Given the description of an element on the screen output the (x, y) to click on. 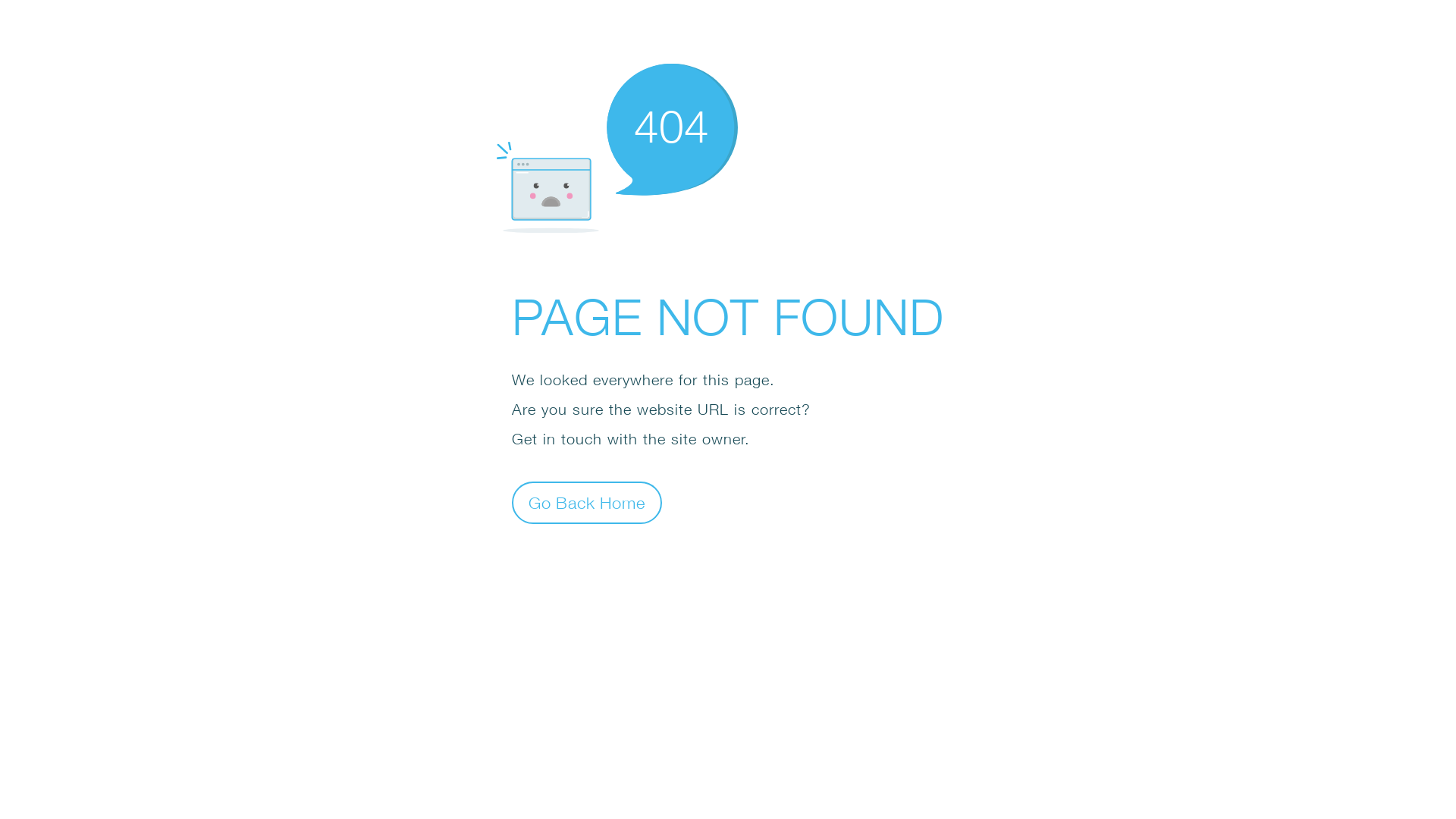
Go Back Home Element type: text (586, 502)
